Given the description of an element on the screen output the (x, y) to click on. 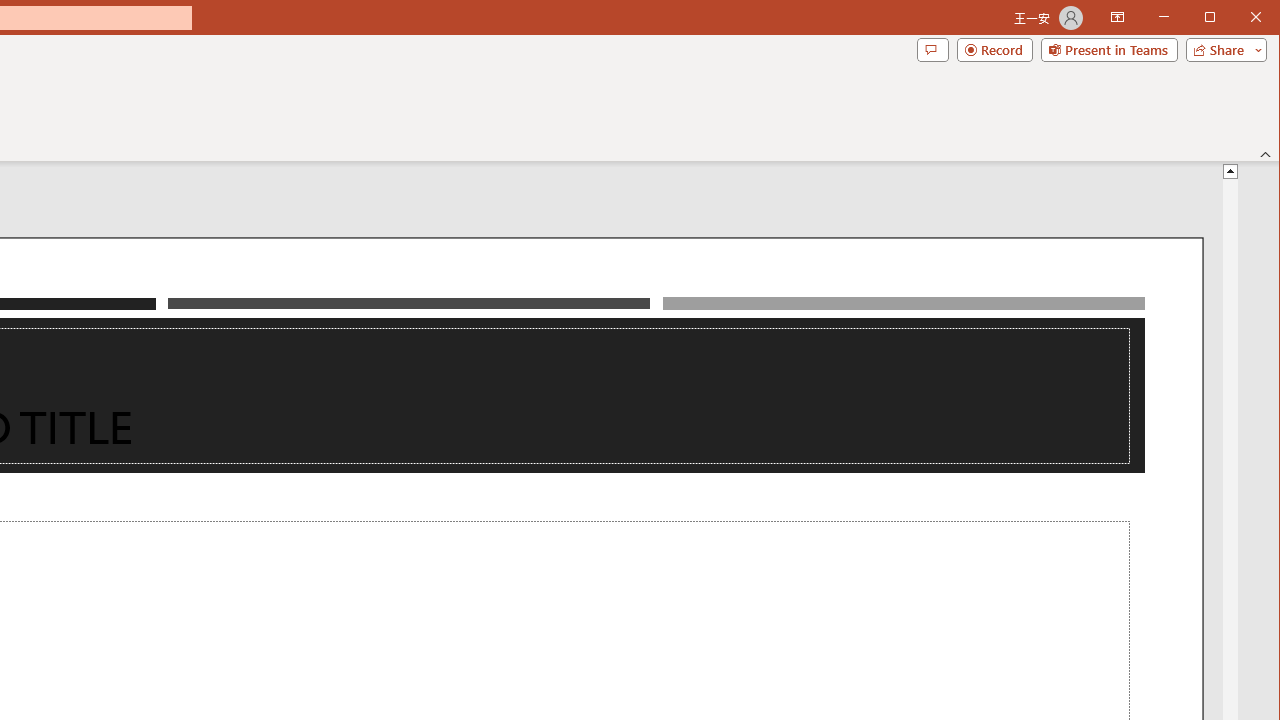
Maximize (1238, 18)
